Given the description of an element on the screen output the (x, y) to click on. 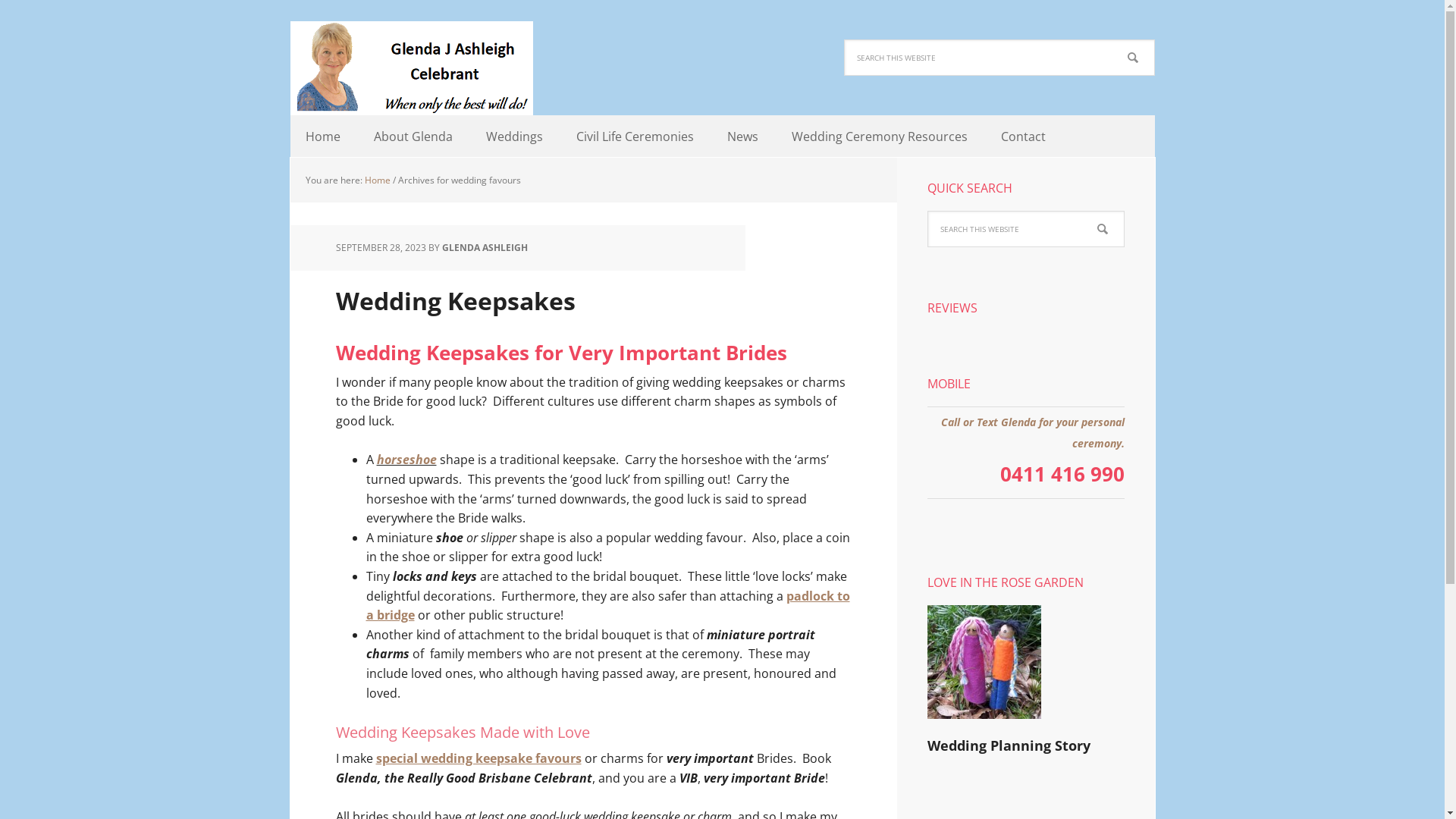
Search Element type: text (1123, 210)
News Element type: text (741, 136)
padlock to a bridge Element type: text (607, 605)
Wedding Planning Story Element type: text (1007, 745)
Civil Life Ceremonies Element type: text (635, 136)
Home Element type: text (376, 179)
Wedding Ceremony Resources Element type: text (879, 136)
Search Element type: text (1154, 38)
About Glenda Element type: text (412, 136)
GLENDA ASHLEIGH Element type: text (484, 247)
horseshoe Element type: text (406, 459)
Glenda J Ashleigh Element type: text (410, 68)
Weddings Element type: text (513, 136)
Contact Element type: text (1022, 136)
Call or Text Glenda for your personal ceremony. Element type: text (1031, 432)
Wedding Keepsakes Element type: text (454, 300)
Home Element type: text (321, 136)
special wedding keepsake favours Element type: text (478, 757)
